Given the description of an element on the screen output the (x, y) to click on. 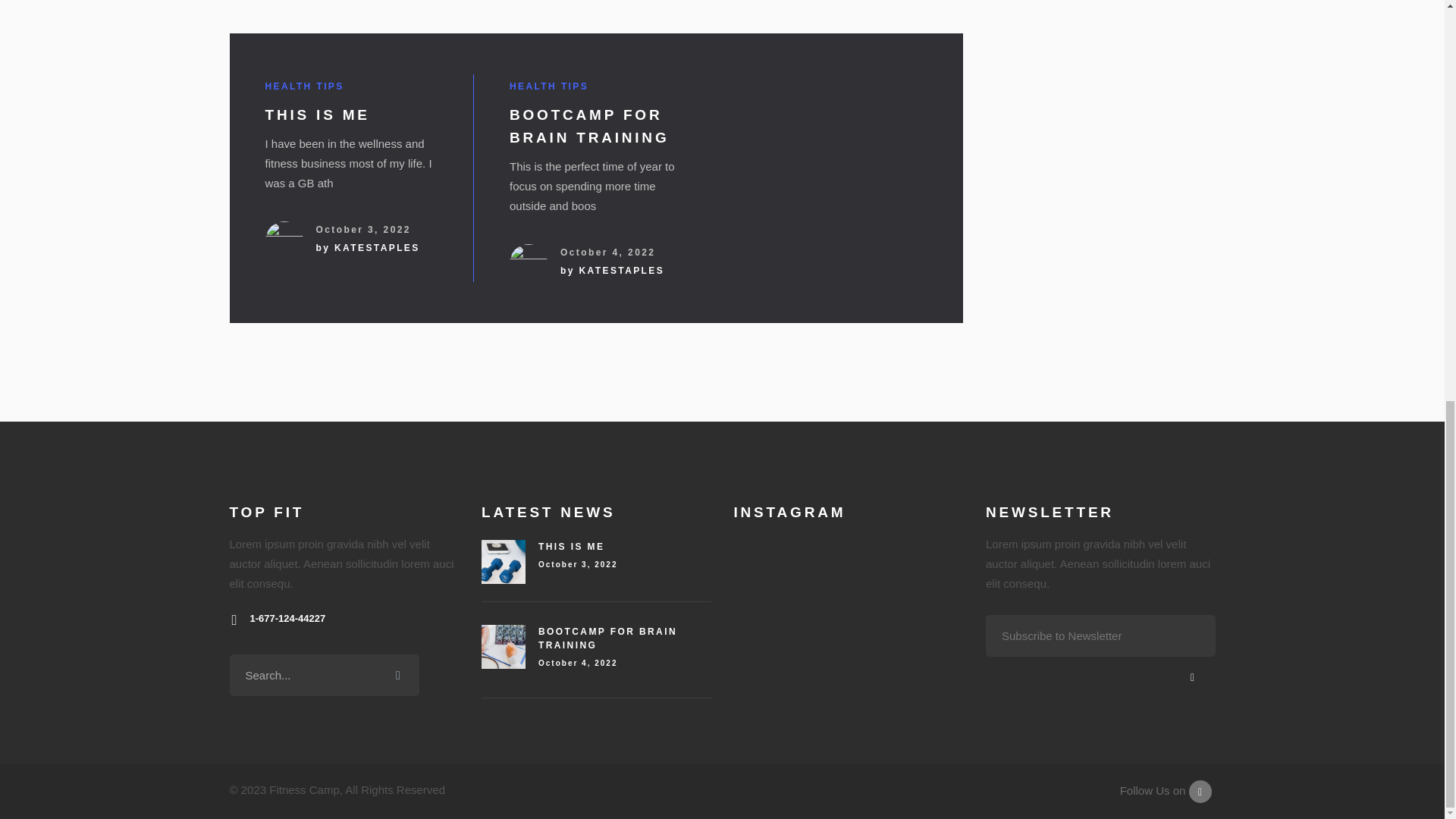
HEALTH TIPS (303, 86)
KATESTAPLES (377, 247)
THIS IS ME (316, 114)
